Given the description of an element on the screen output the (x, y) to click on. 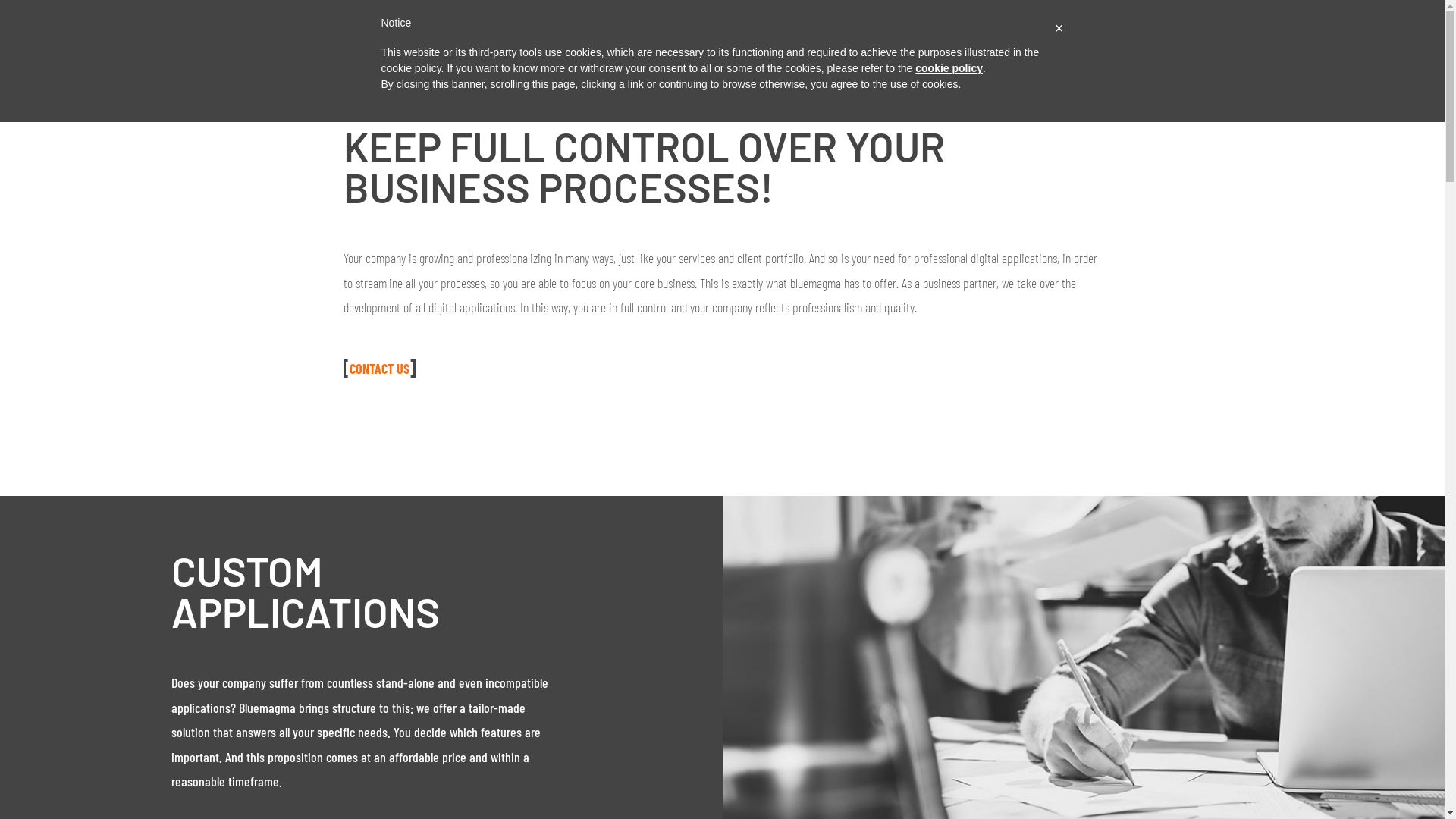
CONTACT Element type: text (1050, 34)
PROJECTS Element type: text (883, 34)
TEAM Element type: text (942, 34)
NL Element type: text (1123, 34)
EN Element type: text (1162, 34)
CONTACT US Element type: text (378, 368)
HOME Element type: text (752, 34)
SERVICES Element type: text (811, 34)
cookie policy Element type: text (948, 68)
NEWS Element type: text (991, 34)
